Given the description of an element on the screen output the (x, y) to click on. 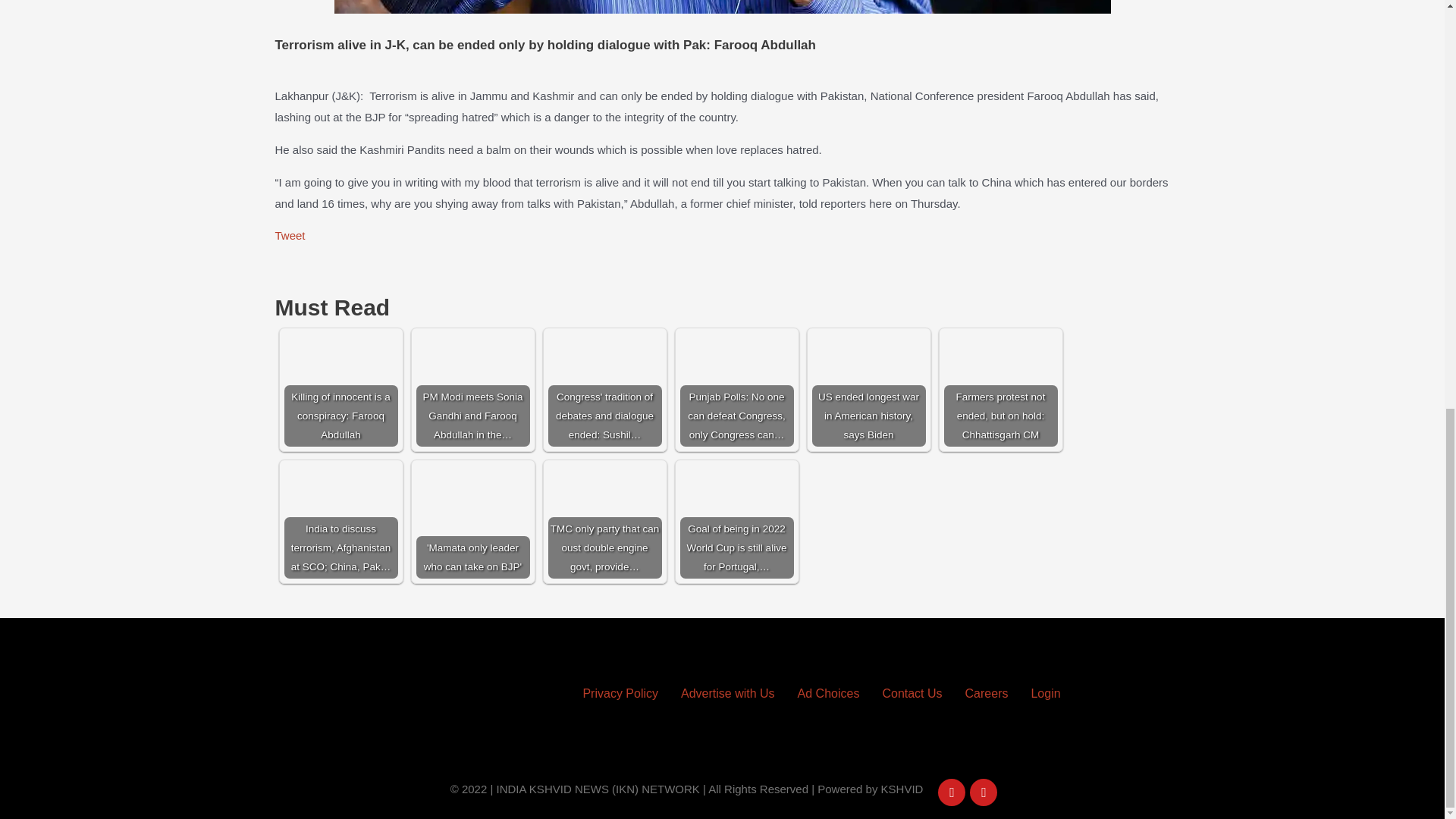
US ended longest war in American history, says Biden (867, 389)
Farmers protest not ended, but on hold: Chhattisgarh CM (1000, 389)
Killing of innocent is a conspiracy: Farooq Abdullah (340, 389)
Tweet (289, 235)
US ended longest war in American history, says Biden (867, 389)
'Mamata only leader who can take on BJP' (471, 521)
